Given the description of an element on the screen output the (x, y) to click on. 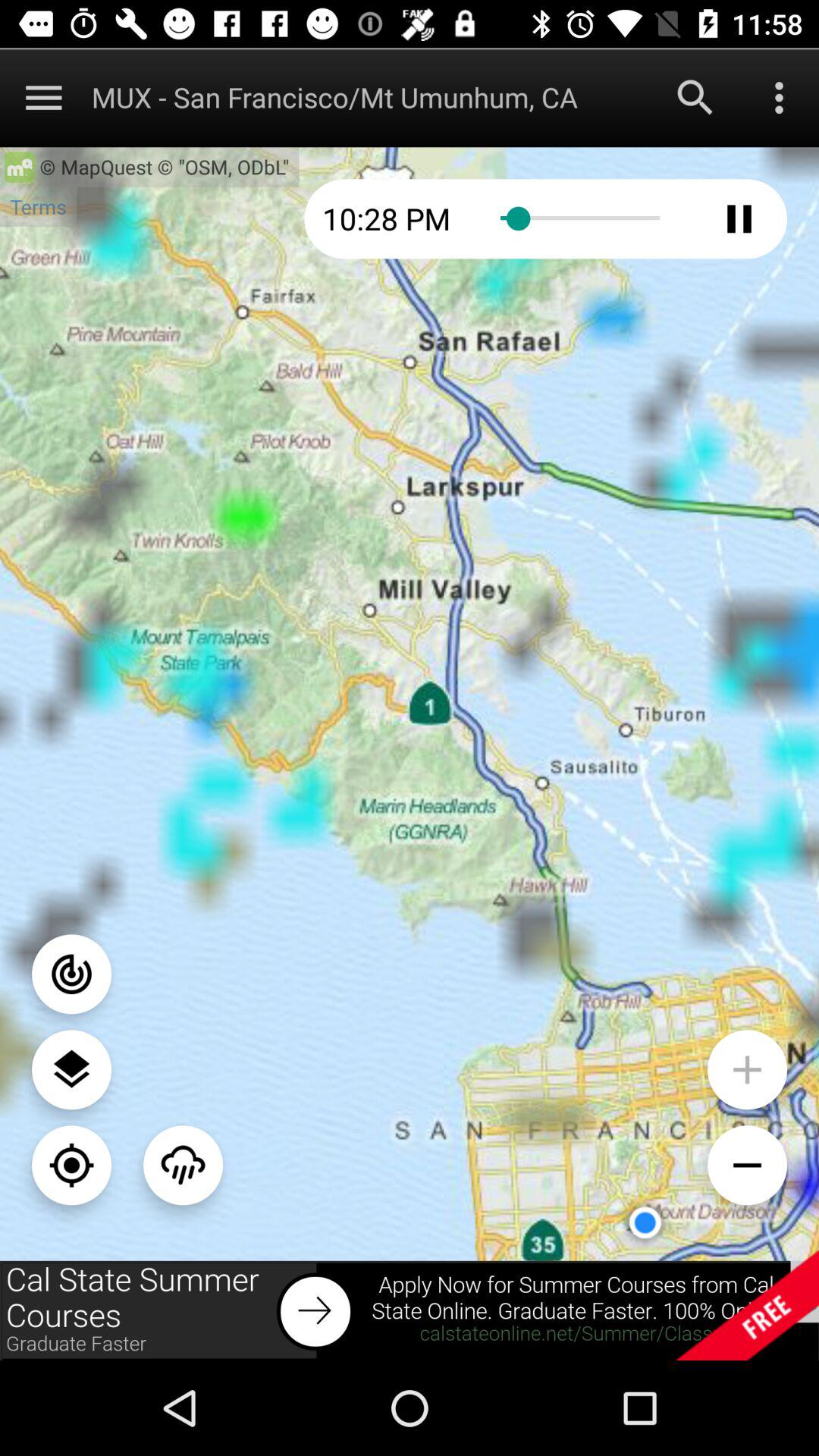
see bird 's eye view (71, 1069)
